Given the description of an element on the screen output the (x, y) to click on. 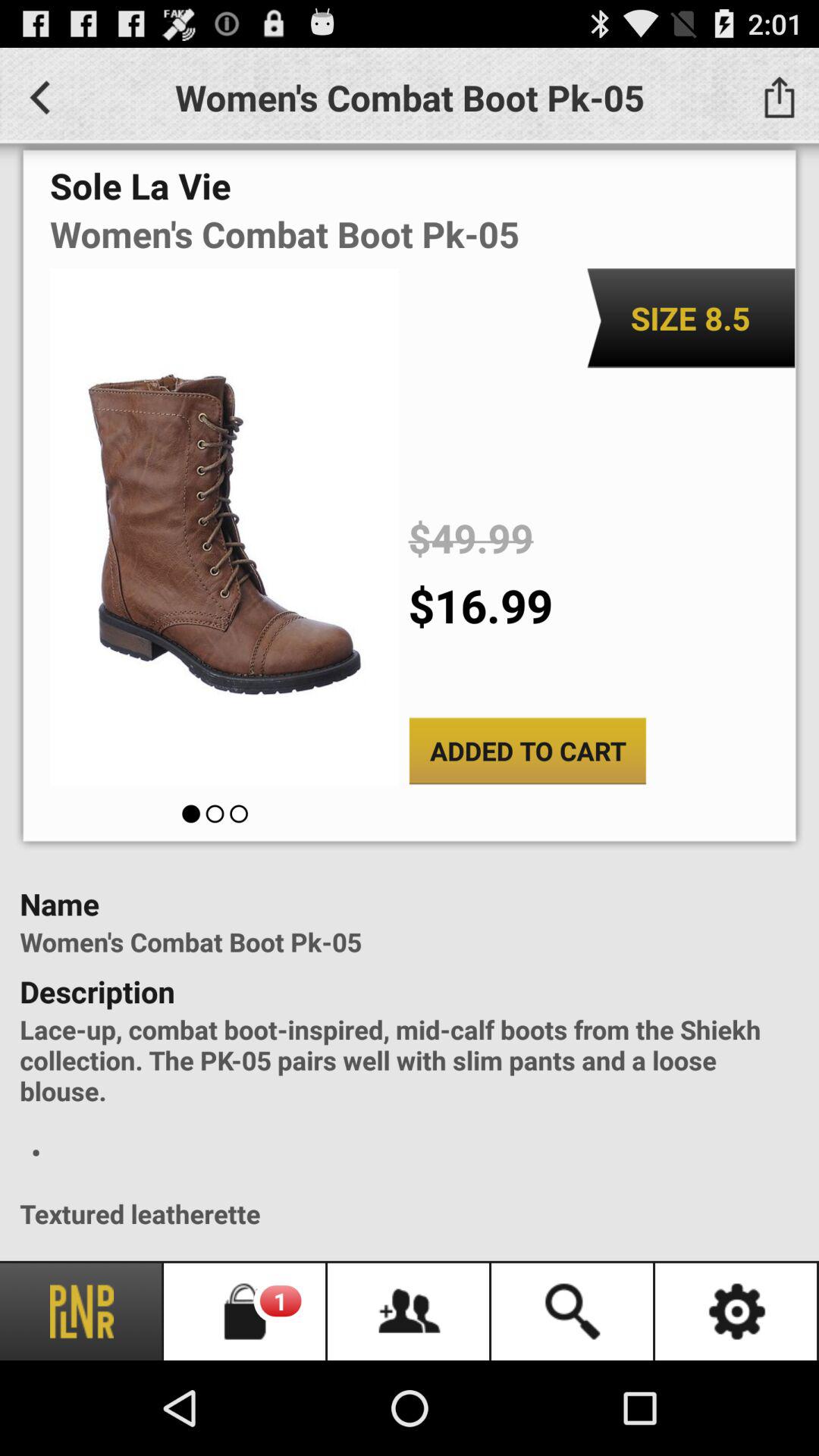
select item above the name item (527, 751)
